Given the description of an element on the screen output the (x, y) to click on. 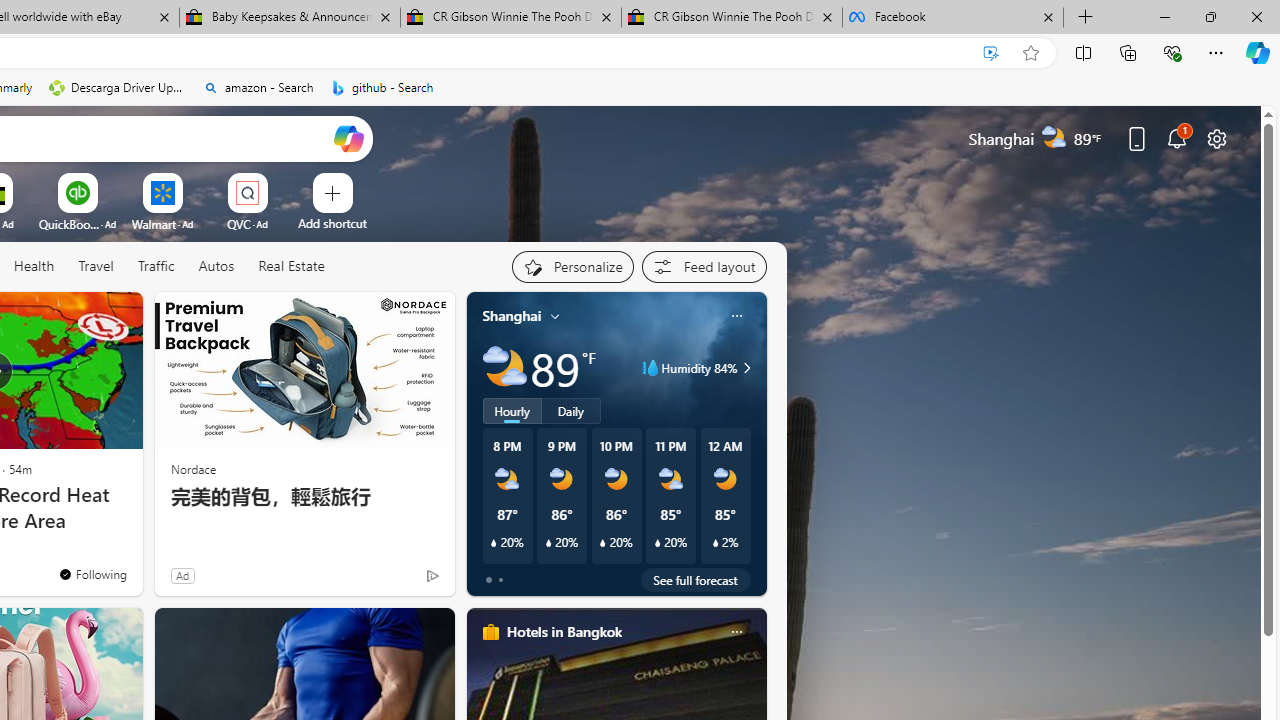
Nordace (193, 468)
Page settings (1216, 138)
Descarga Driver Updater (118, 88)
New Tab (1085, 17)
Enhance video (991, 53)
Traffic (155, 265)
Hourly (511, 411)
Browser essentials (1171, 52)
Restore (1210, 16)
Partly cloudy (504, 368)
